Given the description of an element on the screen output the (x, y) to click on. 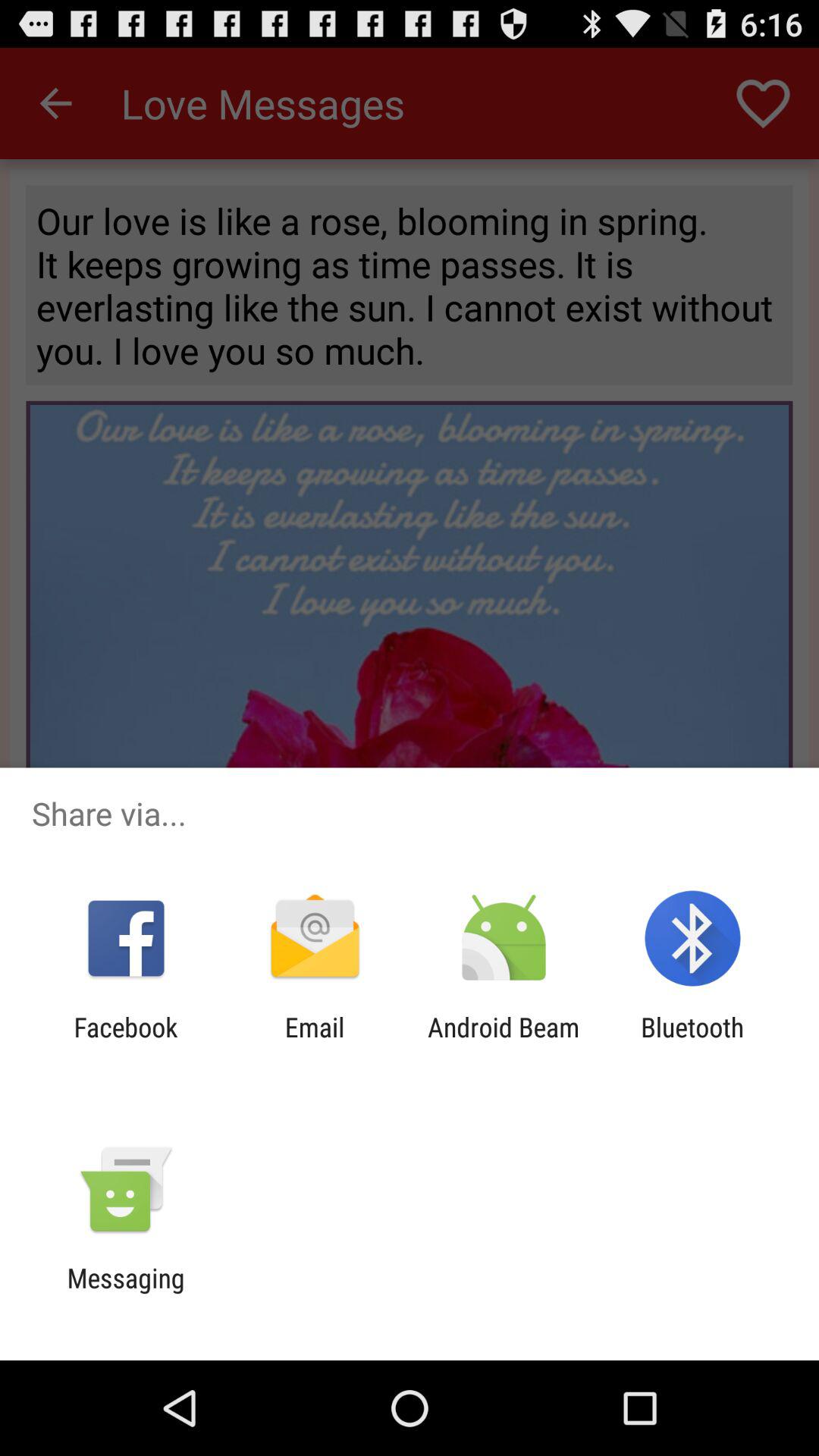
launch app to the left of android beam app (314, 1042)
